Given the description of an element on the screen output the (x, y) to click on. 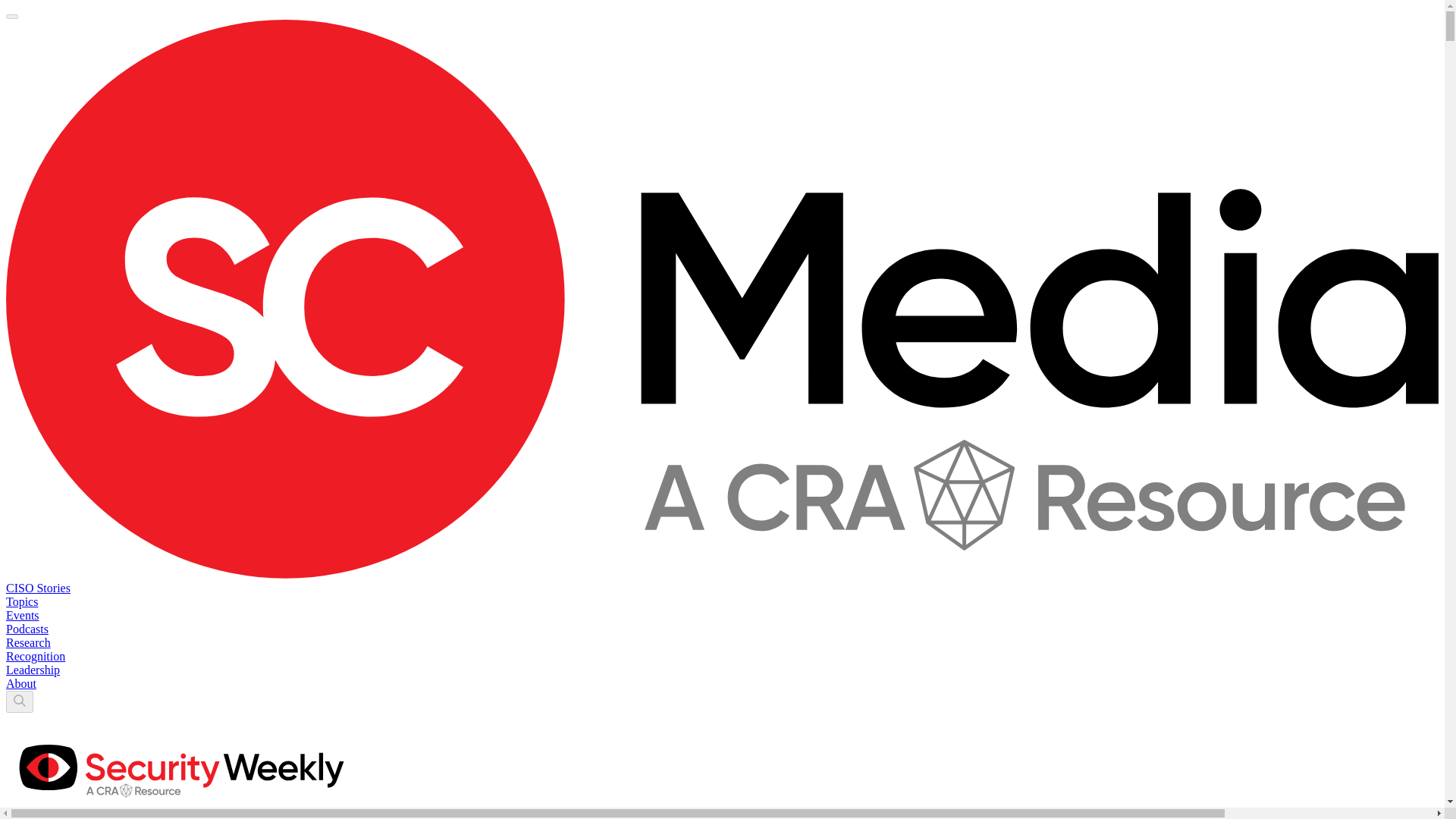
Podcasts (26, 628)
Topics (21, 601)
Leadership (32, 669)
CISO Stories (37, 587)
About (20, 683)
Research (27, 642)
Events (22, 615)
Recognition (35, 656)
